Given the description of an element on the screen output the (x, y) to click on. 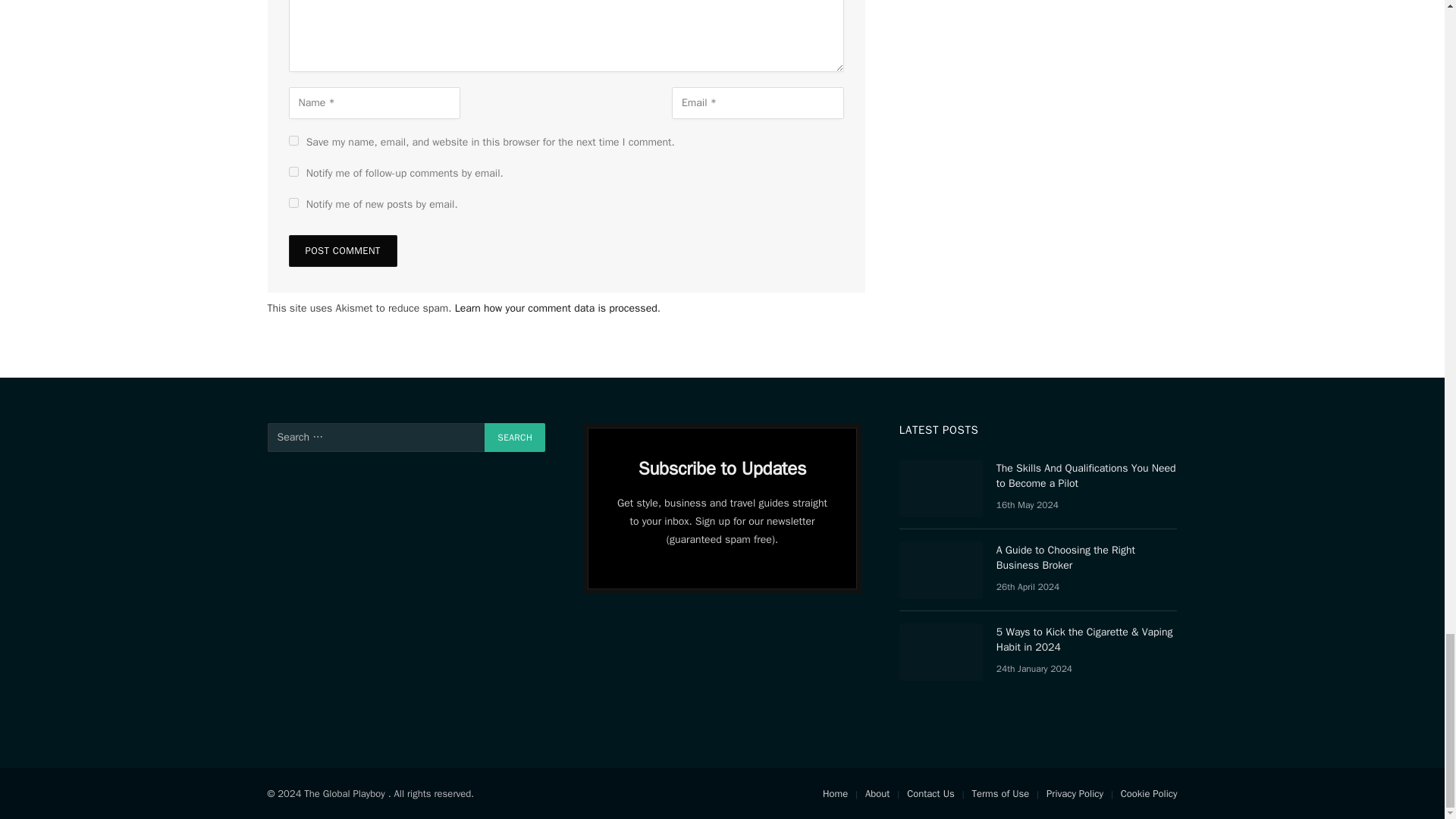
Search (514, 437)
subscribe (293, 171)
Post Comment (342, 250)
yes (293, 140)
Search (514, 437)
subscribe (293, 203)
